Given the description of an element on the screen output the (x, y) to click on. 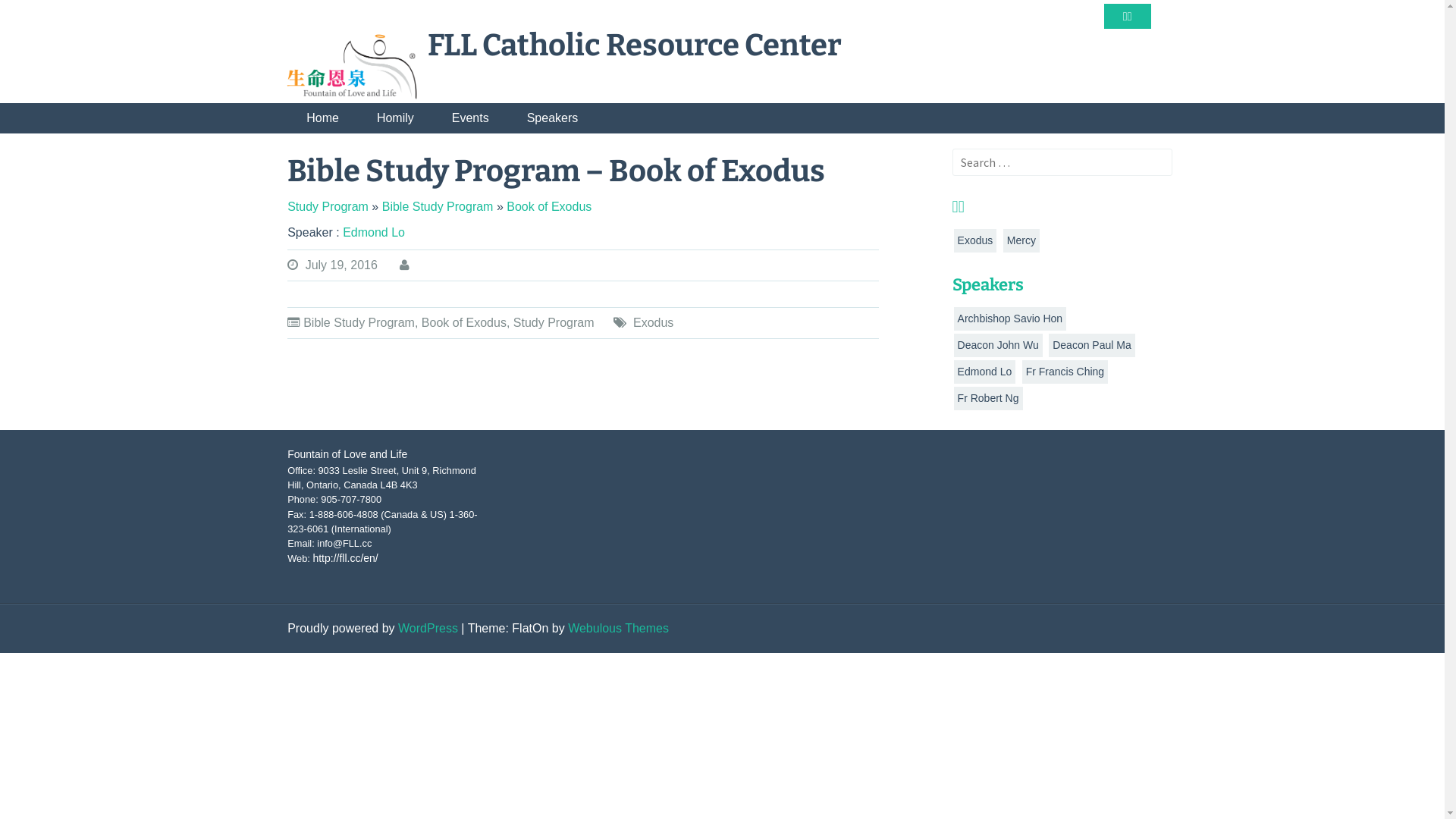
Webulous Themes Element type: text (617, 627)
Archbishop Savio Hon Element type: text (1009, 318)
Skip to content Element type: text (0, 0)
WordPress Element type: text (428, 627)
Edmond Lo Element type: text (373, 231)
Fountain of Love and Life Element type: text (347, 454)
Book of Exodus Element type: text (463, 322)
Mercy Element type: text (1021, 240)
Home Element type: text (322, 118)
Speakers Element type: text (552, 118)
Search for: Element type: hover (1062, 161)
http://fll.cc/en/ Element type: text (344, 558)
Exodus Element type: text (975, 240)
Study Program Element type: text (553, 322)
Bible Study Program Element type: text (358, 322)
July 19, 2016 Element type: text (341, 264)
Edmond Lo Element type: text (984, 371)
FLL Catholic Resource Center Element type: text (634, 45)
Homily Element type: text (395, 118)
Study Program Element type: text (327, 206)
Book of Exodus Element type: text (548, 206)
Events Element type: text (470, 118)
Fr Robert Ng Element type: text (987, 398)
Exodus Element type: text (653, 322)
Bible Study Program Element type: text (437, 206)
Deacon Paul Ma Element type: text (1091, 345)
Fr Francis Ching Element type: text (1064, 371)
Search Element type: text (443, 9)
Deacon John Wu Element type: text (997, 345)
